Given the description of an element on the screen output the (x, y) to click on. 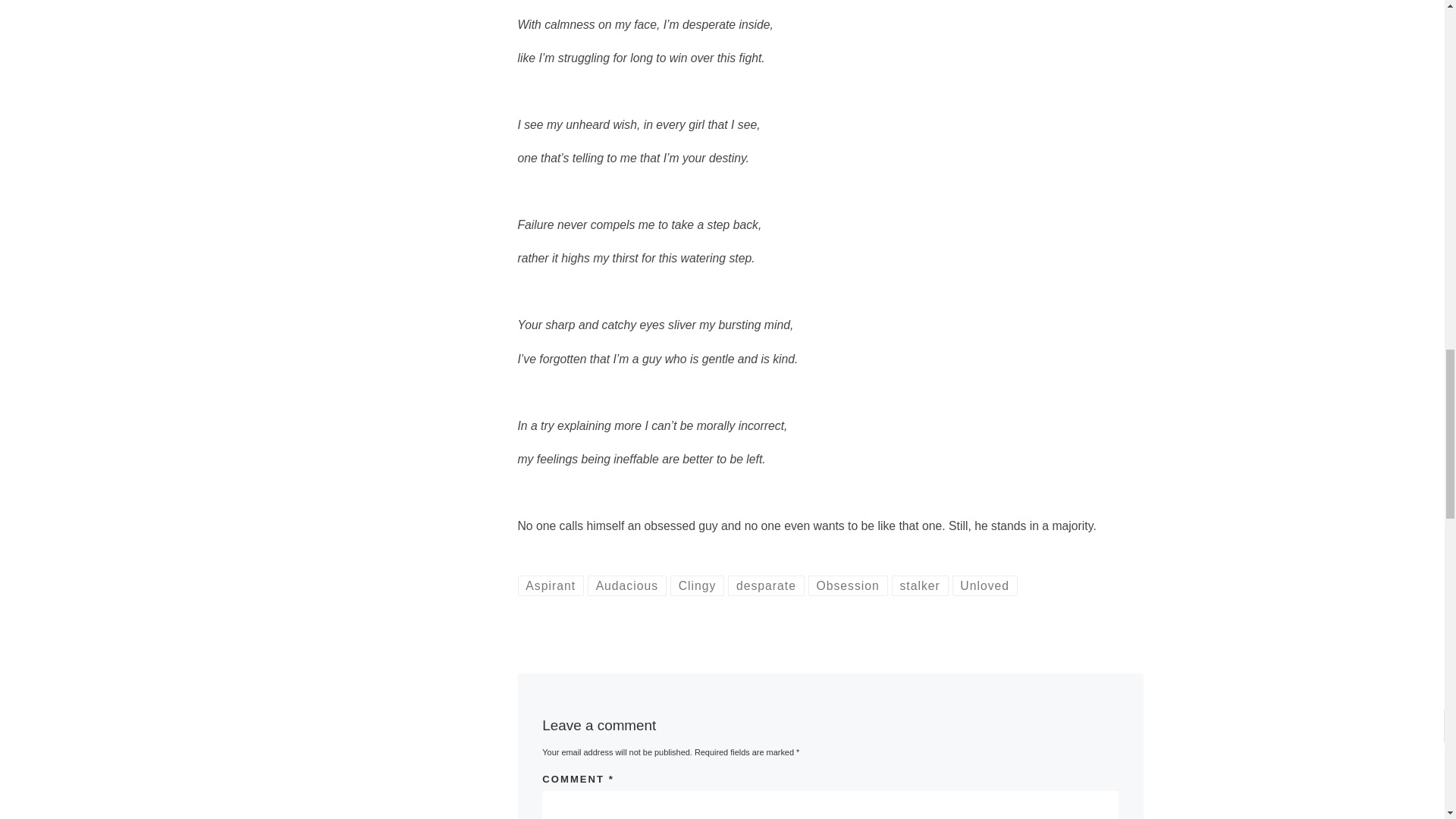
View all posts in Aspirant (549, 586)
View all posts in Audacious (627, 586)
